Given the description of an element on the screen output the (x, y) to click on. 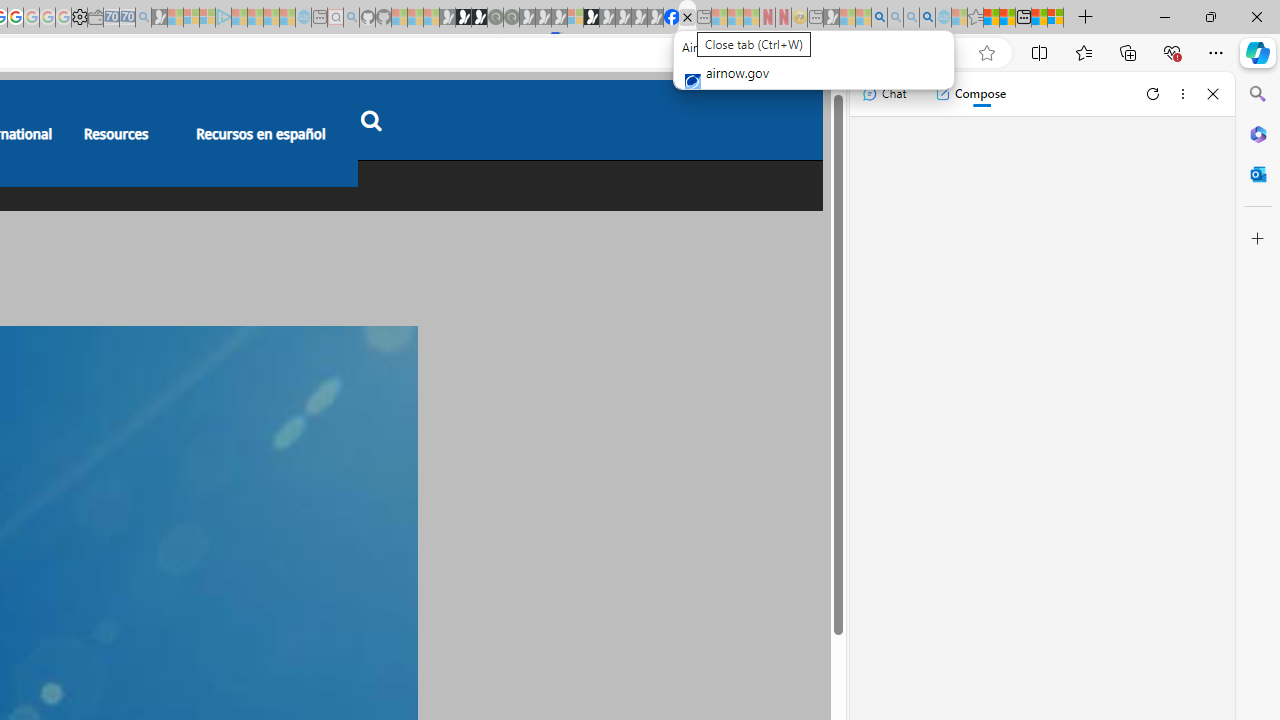
Play Zoo Boom in your browser | Games from Microsoft Start (463, 17)
ZIP Code, City, or State (221, 186)
Favorites - Sleeping (975, 17)
Nordace | Facebook (671, 17)
